Given the description of an element on the screen output the (x, y) to click on. 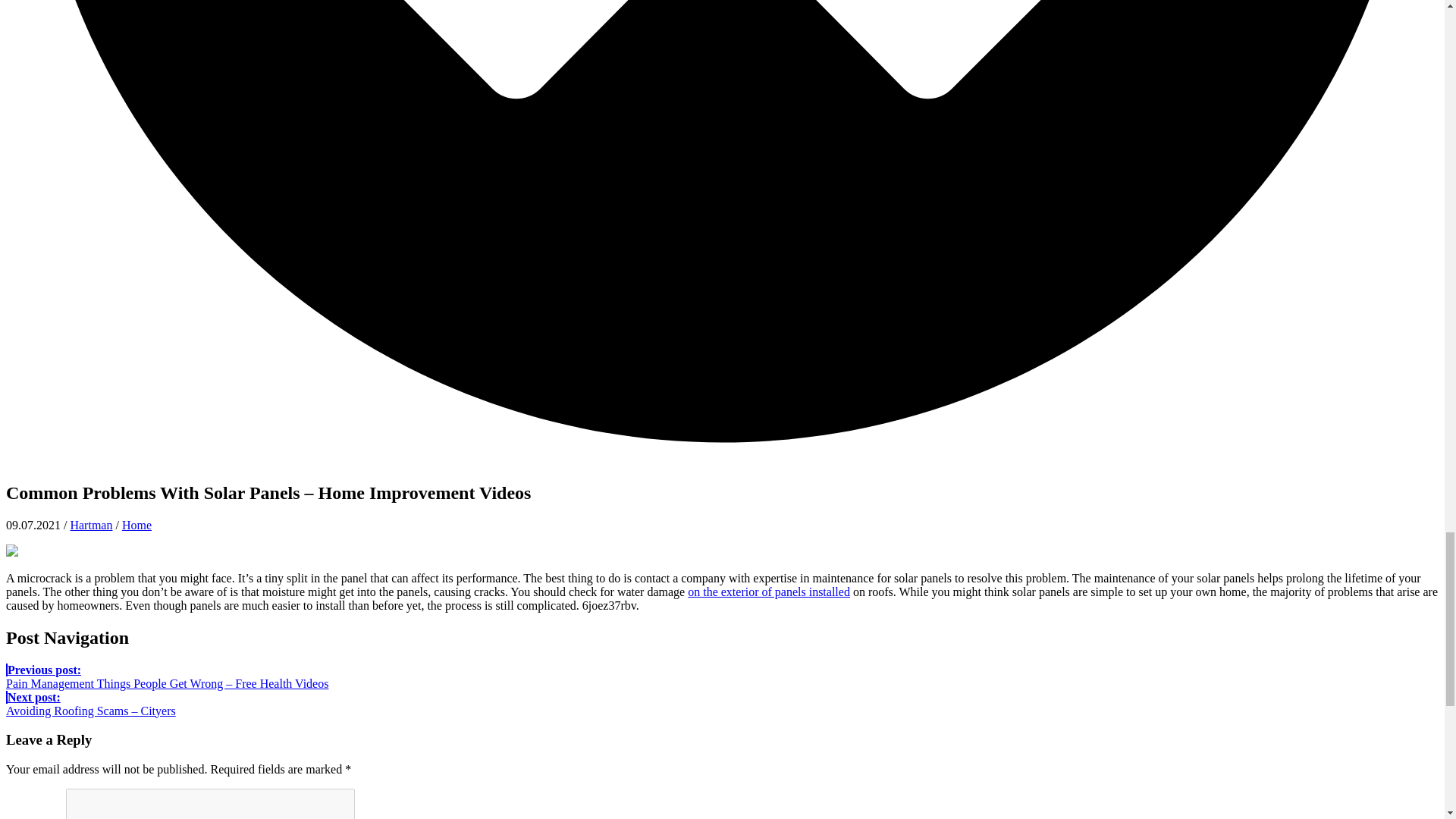
Posts by Hartman (90, 524)
on the exterior of panels installed (768, 591)
Hartman (90, 524)
Home (136, 524)
